Given the description of an element on the screen output the (x, y) to click on. 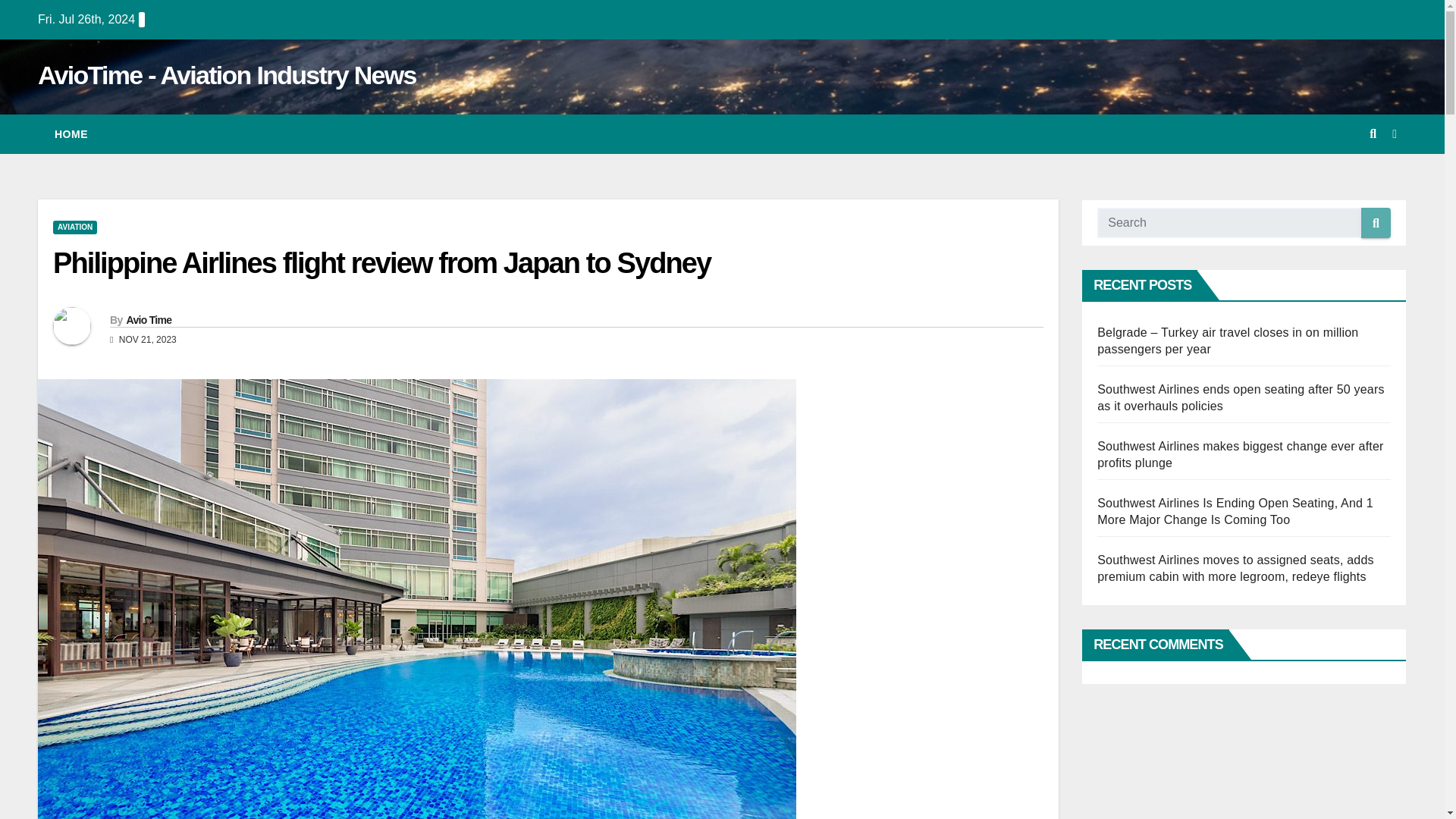
AvioTime - Aviation Industry News (226, 74)
HOME (70, 133)
Avio Time (148, 319)
Philippine Airlines flight review from Japan to Sydney (381, 263)
Home (70, 133)
AVIATION (74, 227)
